Given the description of an element on the screen output the (x, y) to click on. 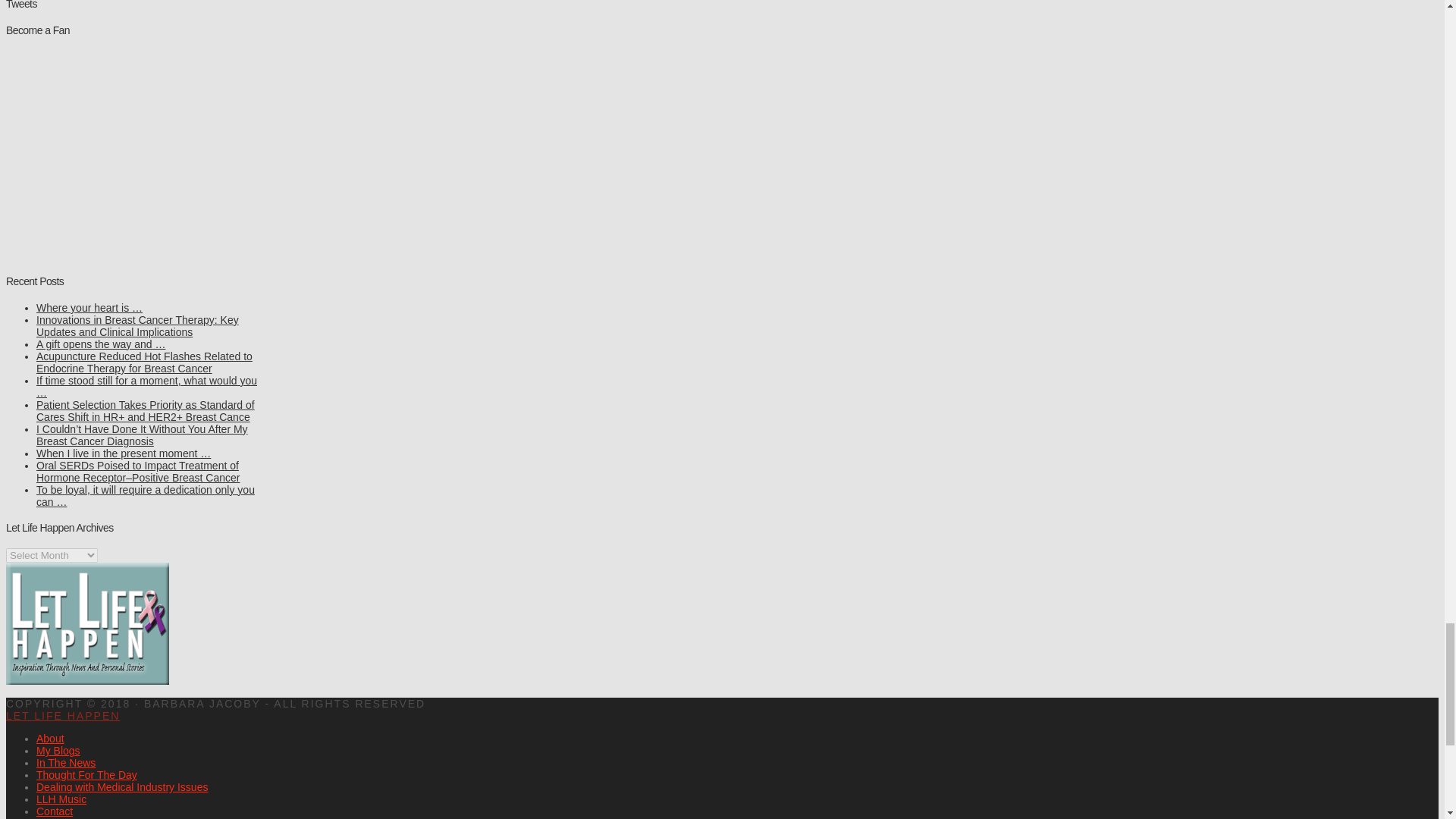
Let Life Happen (62, 715)
